Given the description of an element on the screen output the (x, y) to click on. 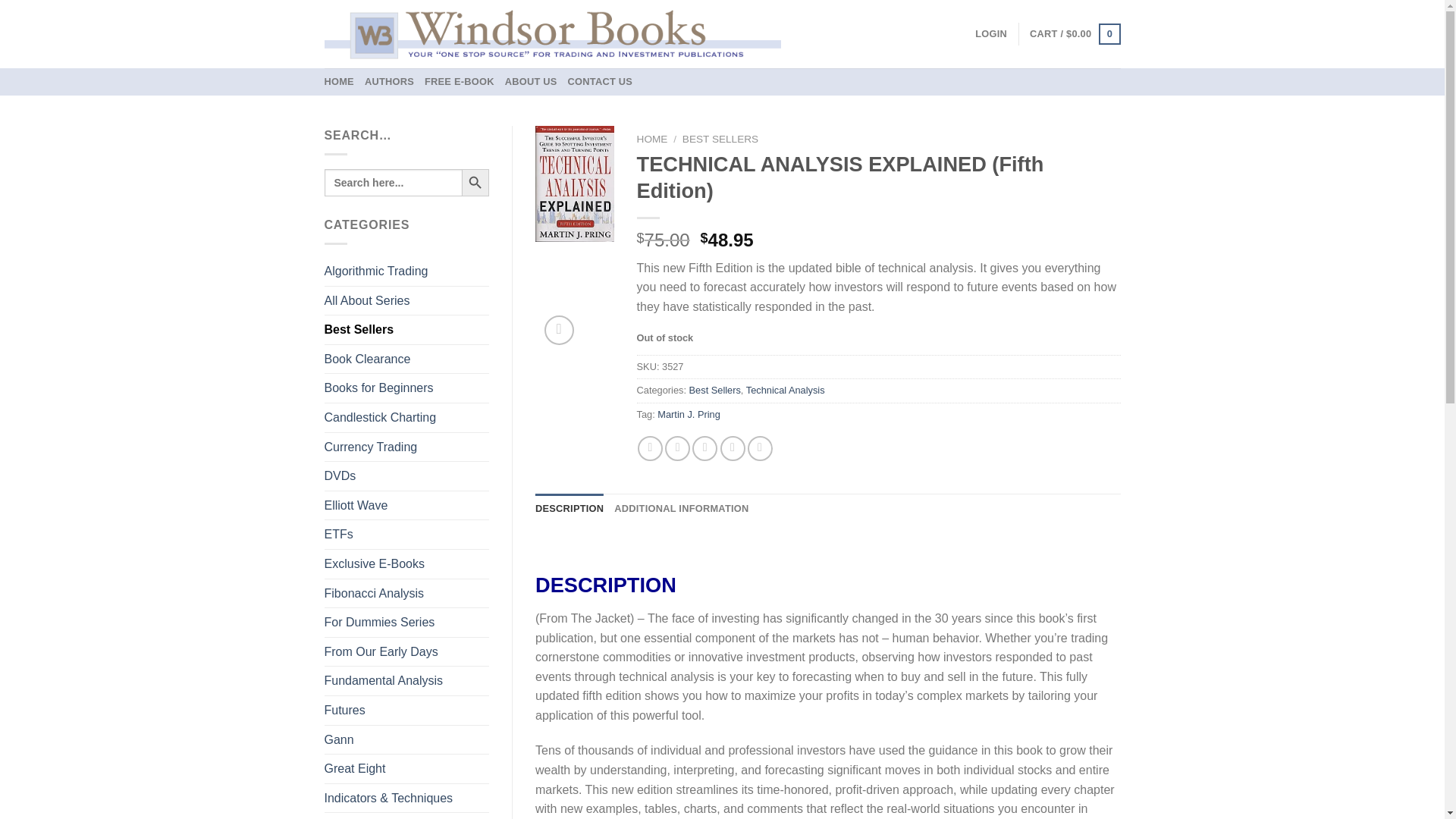
All About Series (406, 300)
Email to a Friend (705, 448)
LOGIN (991, 33)
From Our Early Days (406, 652)
Books for Beginners (406, 387)
ABOUT US (531, 81)
DVDs (406, 475)
Elliott Wave (406, 505)
Windsor Books - Windsor Books (552, 33)
Share on Twitter (677, 448)
